Given the description of an element on the screen output the (x, y) to click on. 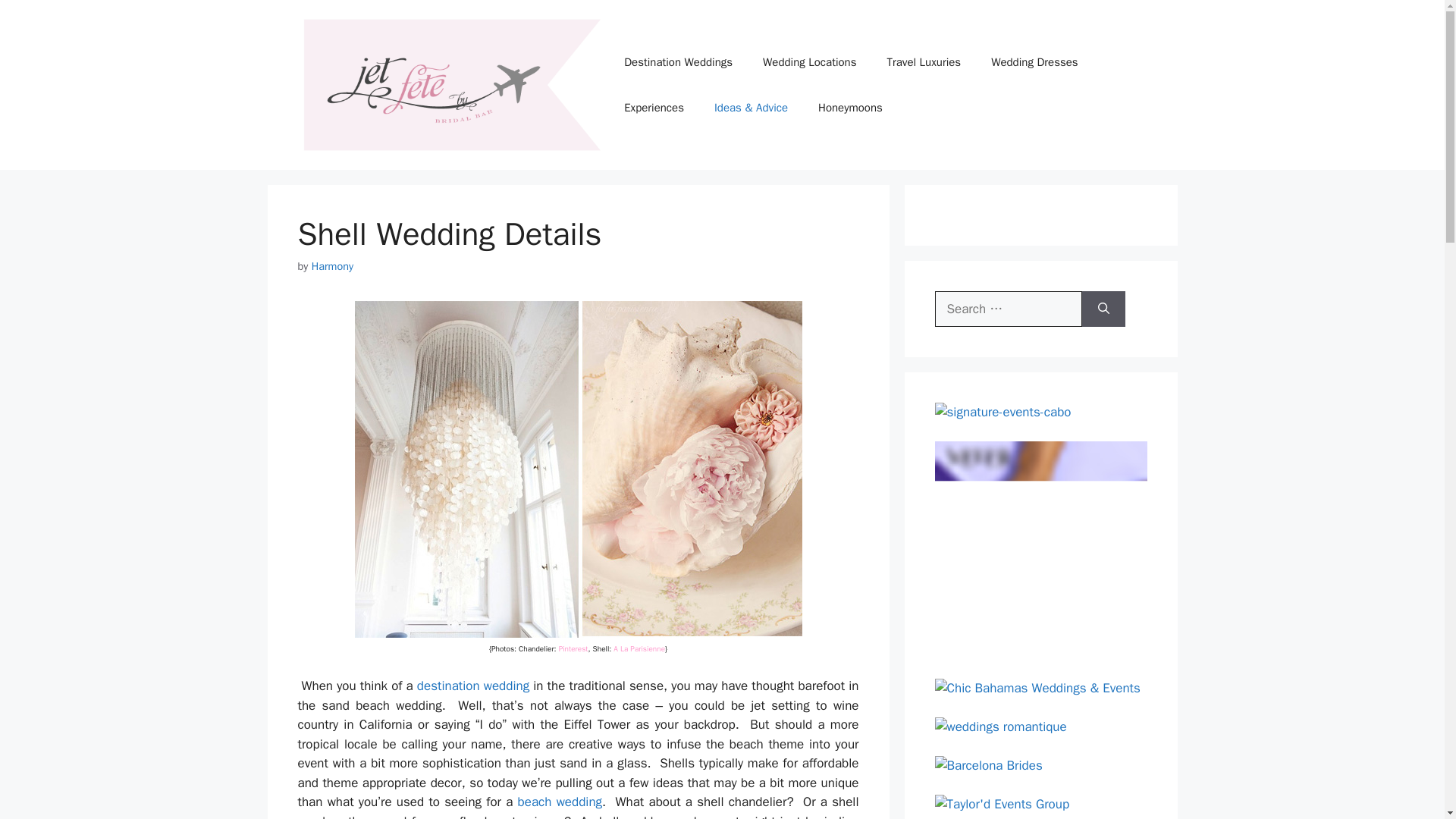
Destination Wedding in Aruba (472, 685)
Wedding Dresses (1034, 62)
Search for: (1007, 309)
Pinterest (573, 648)
destination wedding (472, 685)
View all posts by Harmony (332, 265)
beach wedding (560, 801)
Wedding Locations (809, 62)
Experiences (653, 107)
A La Parisienne (638, 648)
